Given the description of an element on the screen output the (x, y) to click on. 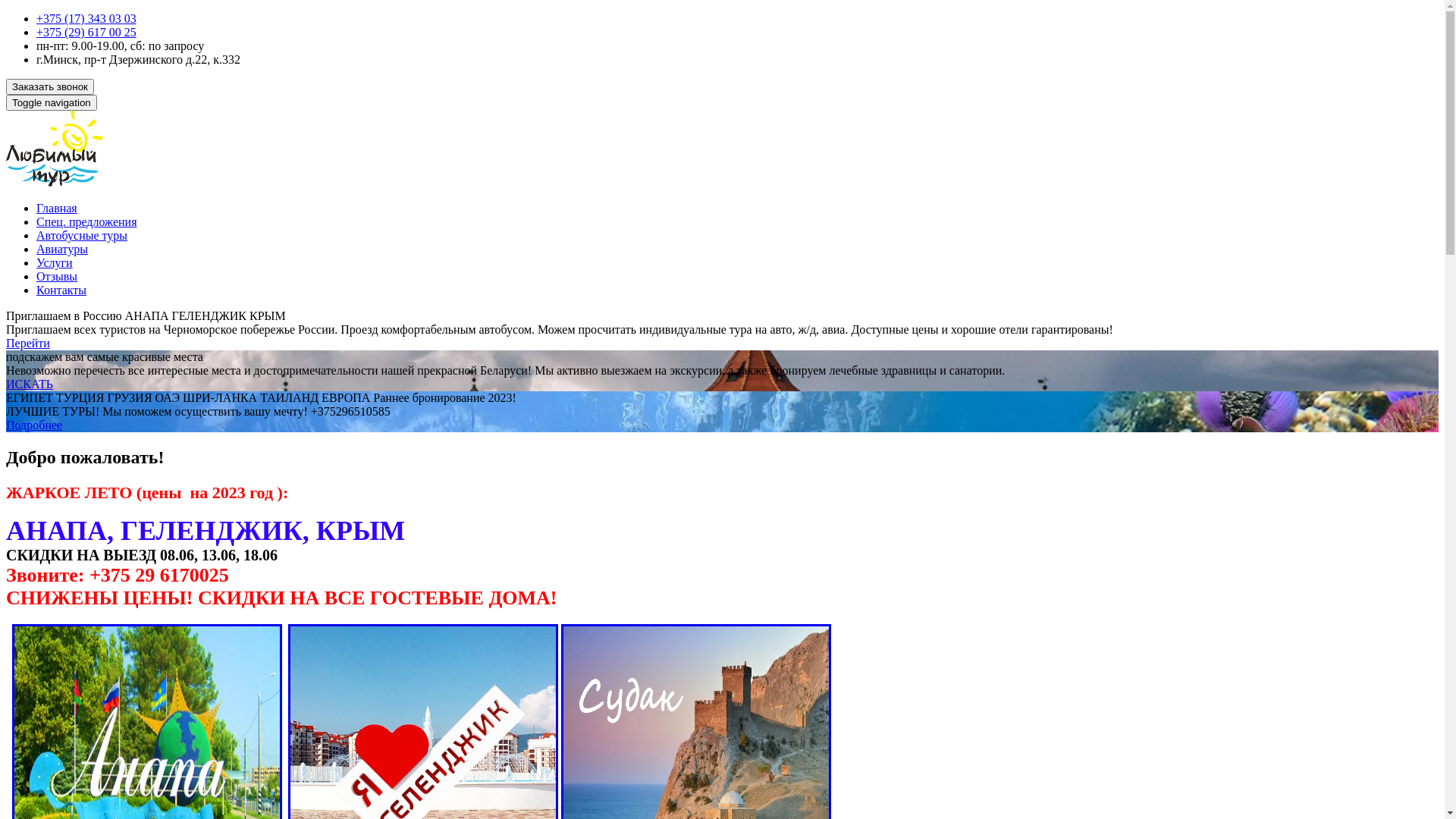
+375 (17) 343 03 03 Element type: text (86, 18)
+375 (29) 617 00 25 Element type: text (86, 31)
Toggle navigation Element type: text (51, 102)
